Given the description of an element on the screen output the (x, y) to click on. 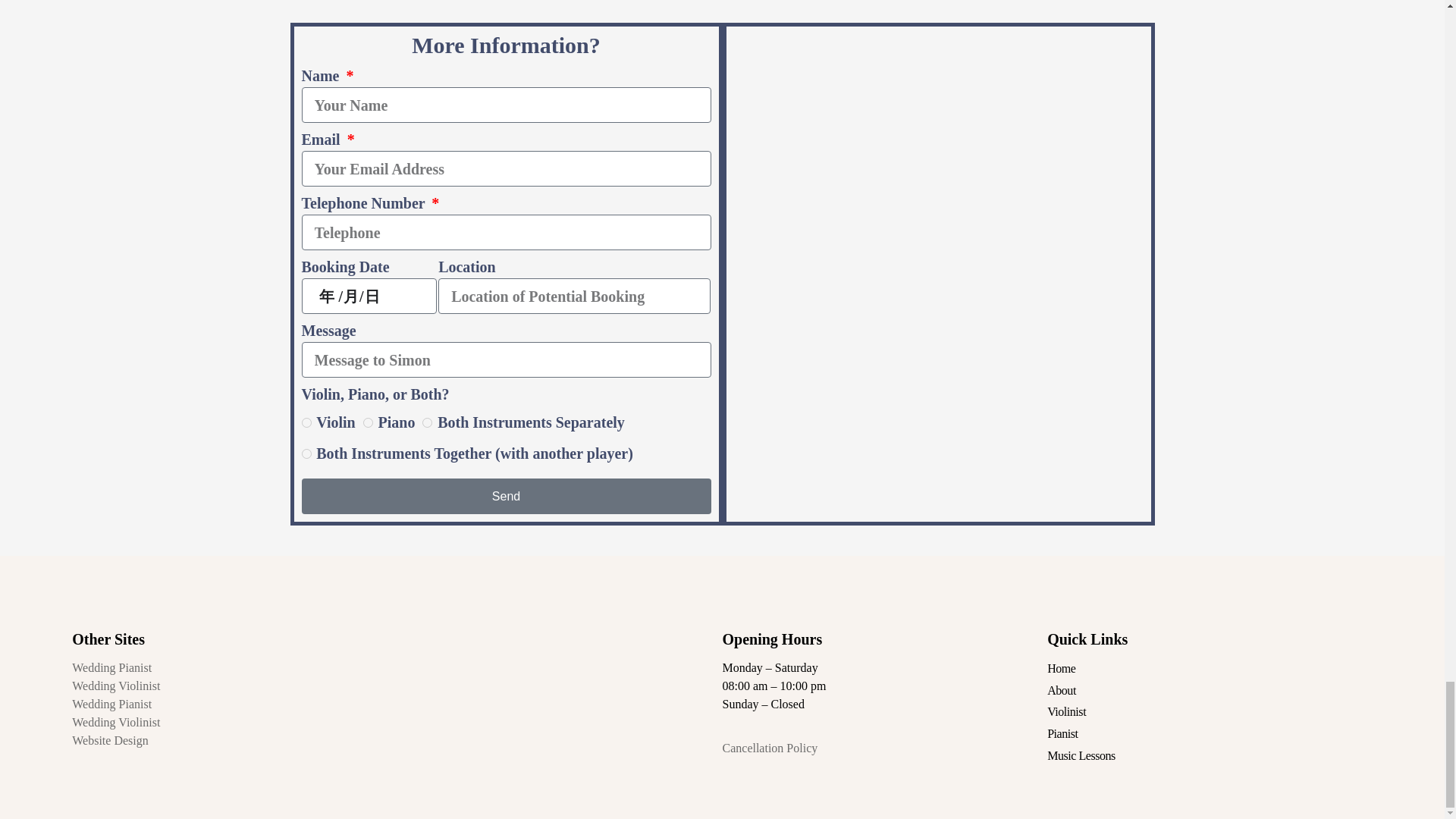
Piano (367, 422)
Violin (306, 422)
Both Instruments Separately (427, 422)
